Given the description of an element on the screen output the (x, y) to click on. 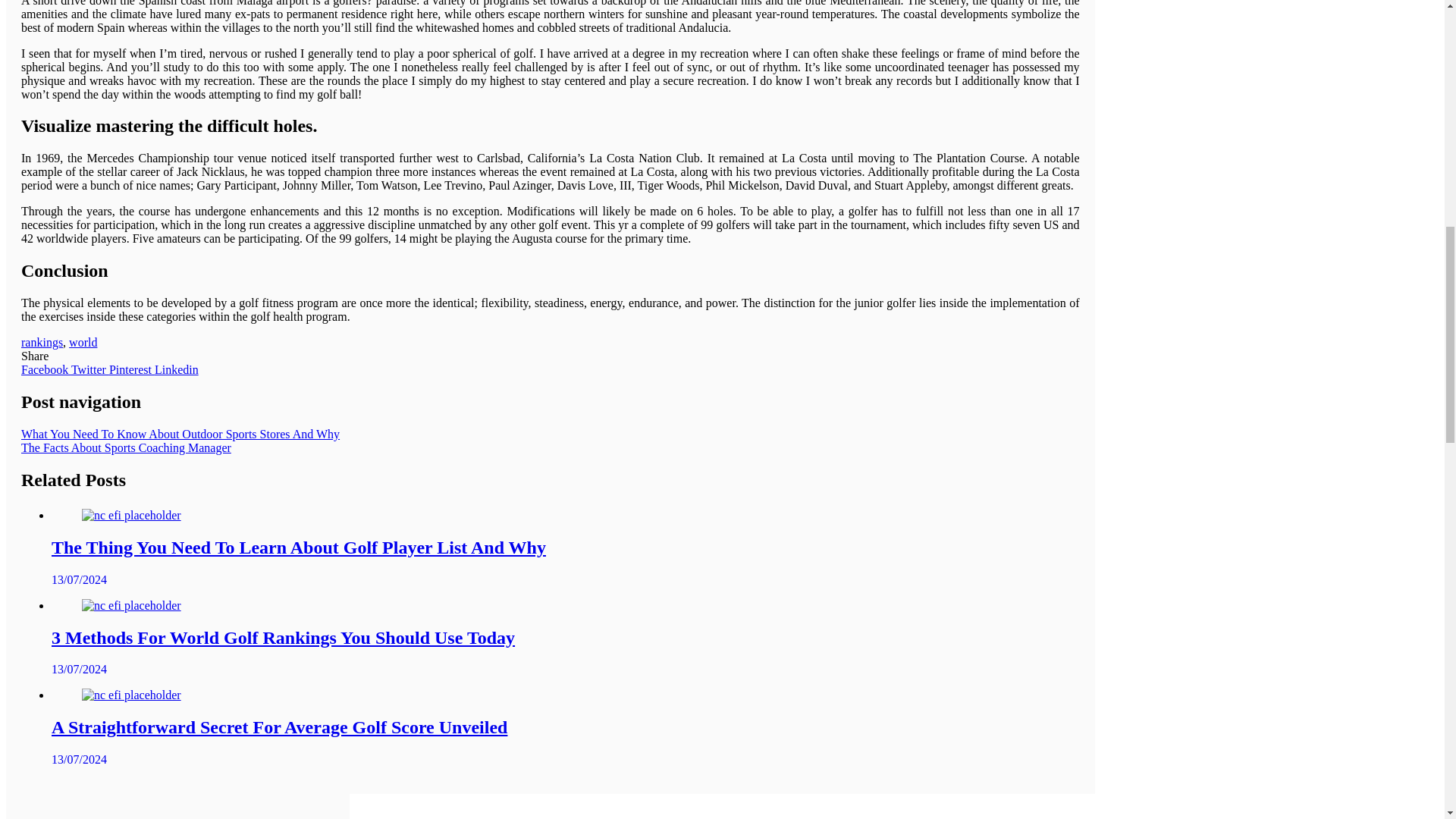
What You Need To Know About Outdoor Sports Stores And Why (180, 433)
Linkedin (176, 369)
Pinterest (131, 369)
world (82, 341)
3 Methods For World Golf Rankings You Should Use Today (130, 605)
The Facts About Sports Coaching Manager (126, 447)
Twitter (90, 369)
rankings (41, 341)
The Thing You Need To Learn About Golf Player List And Why (130, 515)
Facebook (46, 369)
